Given the description of an element on the screen output the (x, y) to click on. 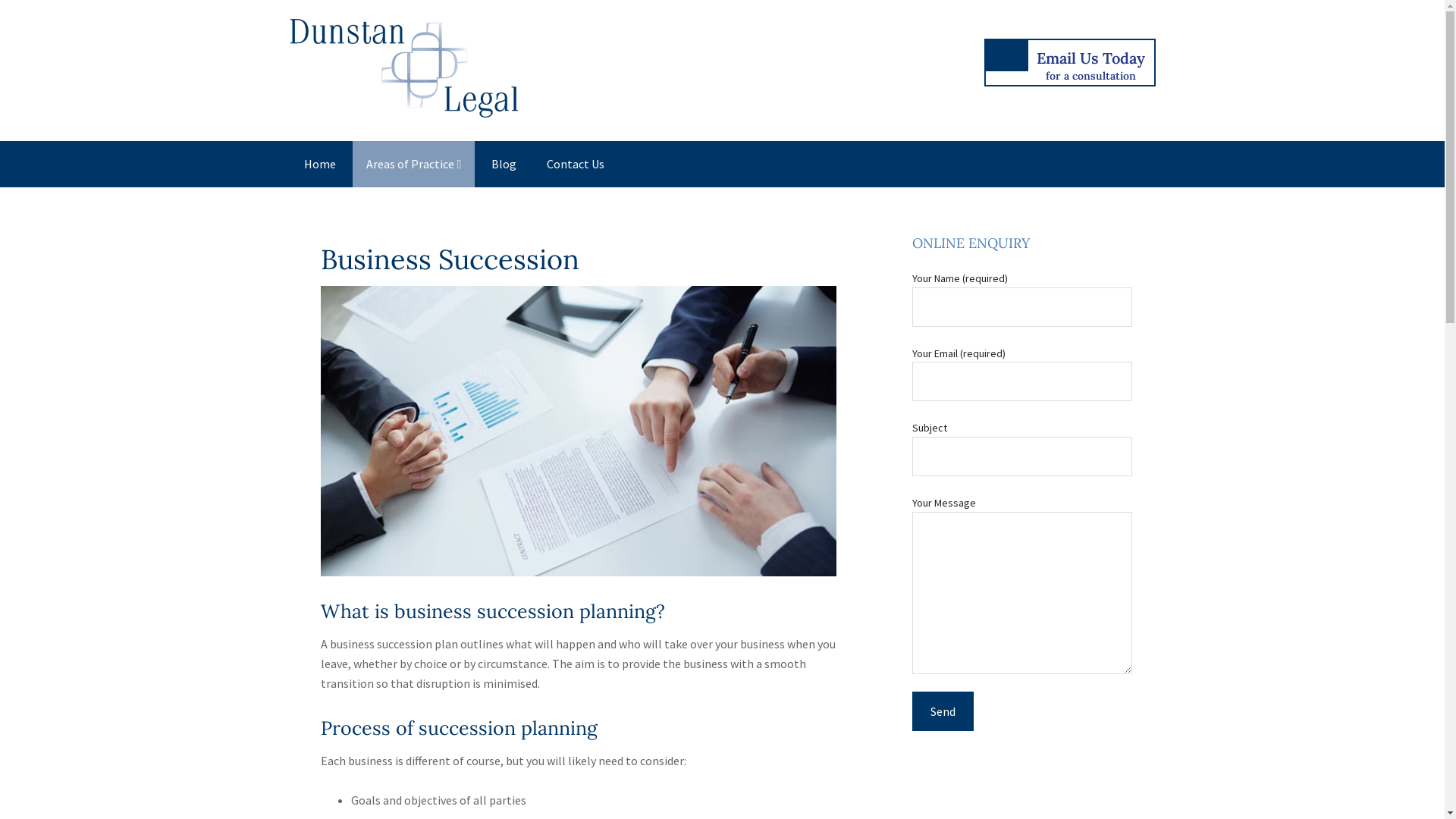
Areas of Practice Element type: text (412, 164)
Blog Element type: text (503, 163)
Contact Us Element type: text (575, 163)
Home Element type: text (318, 163)
Email Us Today
for a consultation Element type: text (1069, 62)
Dunstan Legal Element type: hover (403, 105)
Send Element type: text (941, 711)
